Given the description of an element on the screen output the (x, y) to click on. 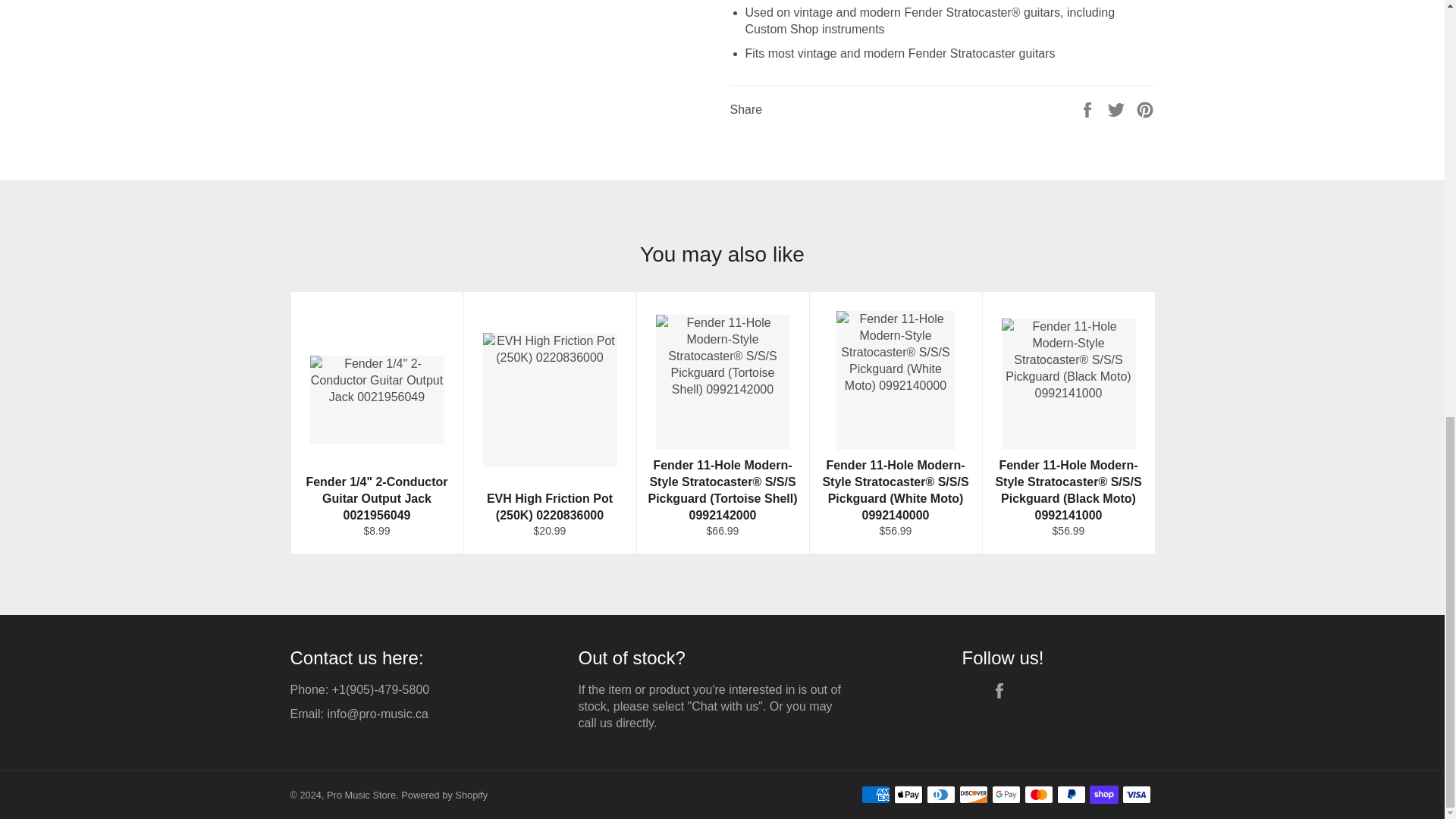
Pin on Pinterest (1144, 108)
Share on Facebook (1088, 108)
Tweet on Twitter (1117, 108)
Pro Music Store on Facebook (1003, 690)
